Given the description of an element on the screen output the (x, y) to click on. 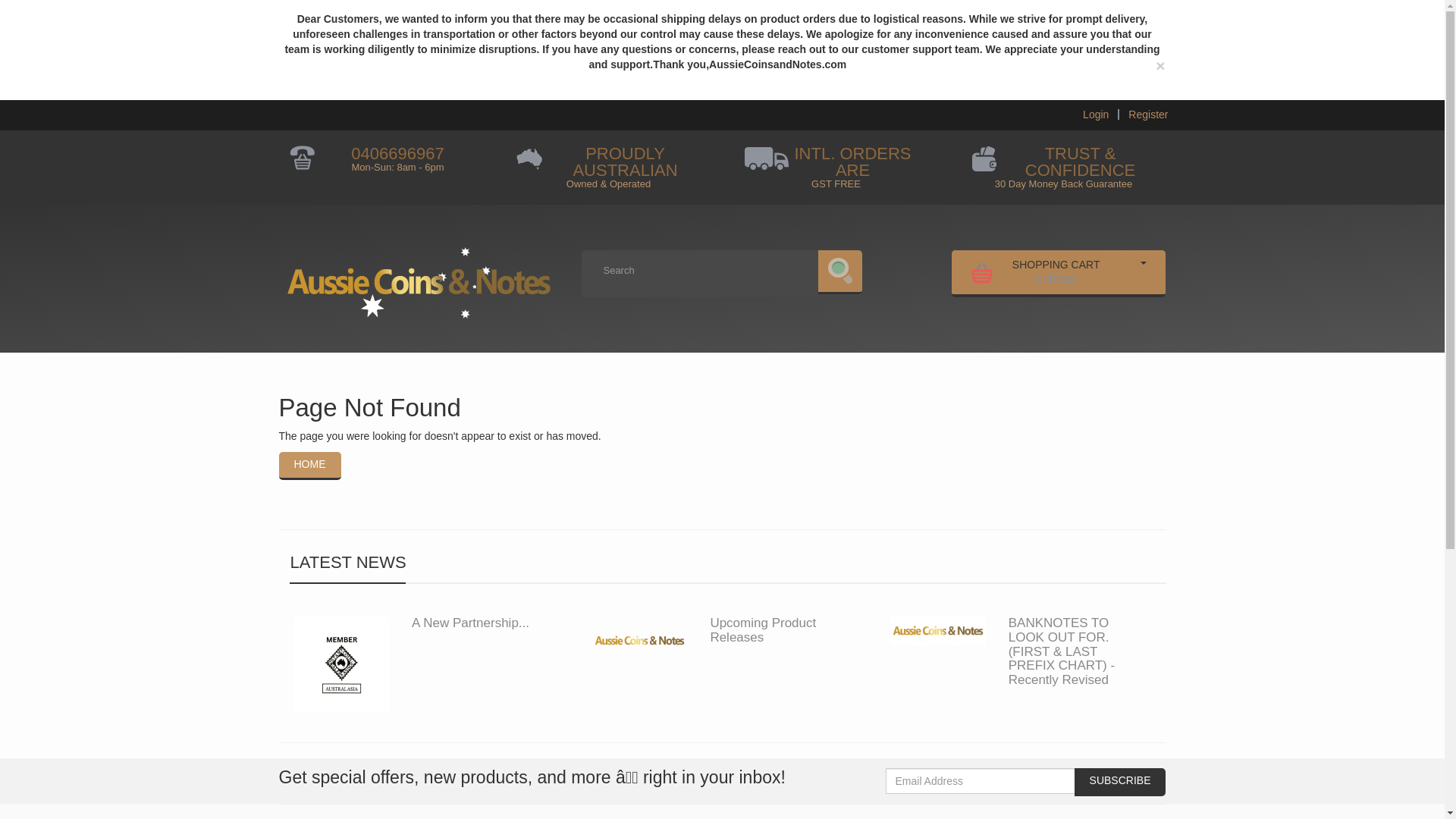
Login (1096, 113)
Aussie Coins and Notes (419, 277)
Subscribe (1120, 782)
Register (1147, 113)
SEARCH (839, 272)
0406696967 (1037, 272)
Register (397, 153)
Home Page (1147, 113)
Login (309, 465)
